Given the description of an element on the screen output the (x, y) to click on. 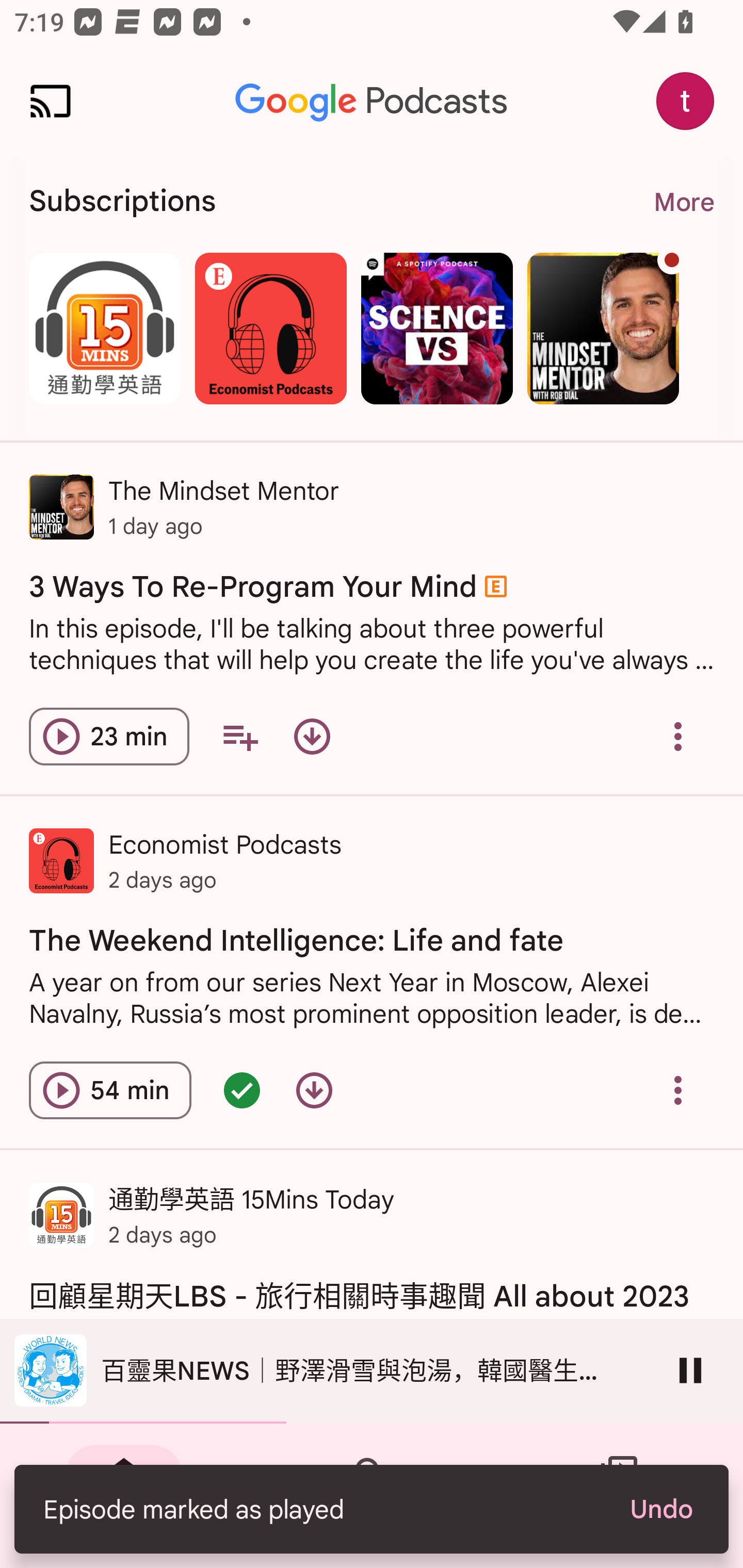
Cast. Disconnected (50, 101)
More More. Navigate to subscriptions page. (683, 202)
通勤學英語 15Mins Today (104, 328)
Economist Podcasts (270, 328)
Science Vs (436, 328)
The Mindset Mentor (603, 328)
Play episode 3 Ways To Re-Program Your Mind 23 min (108, 736)
Add to your queue (239, 736)
Download episode (312, 736)
Overflow menu (677, 736)
Episode queued - double tap for options (241, 1090)
Download episode (313, 1090)
Overflow menu (677, 1090)
Pause (690, 1370)
Undo (660, 1509)
